Given the description of an element on the screen output the (x, y) to click on. 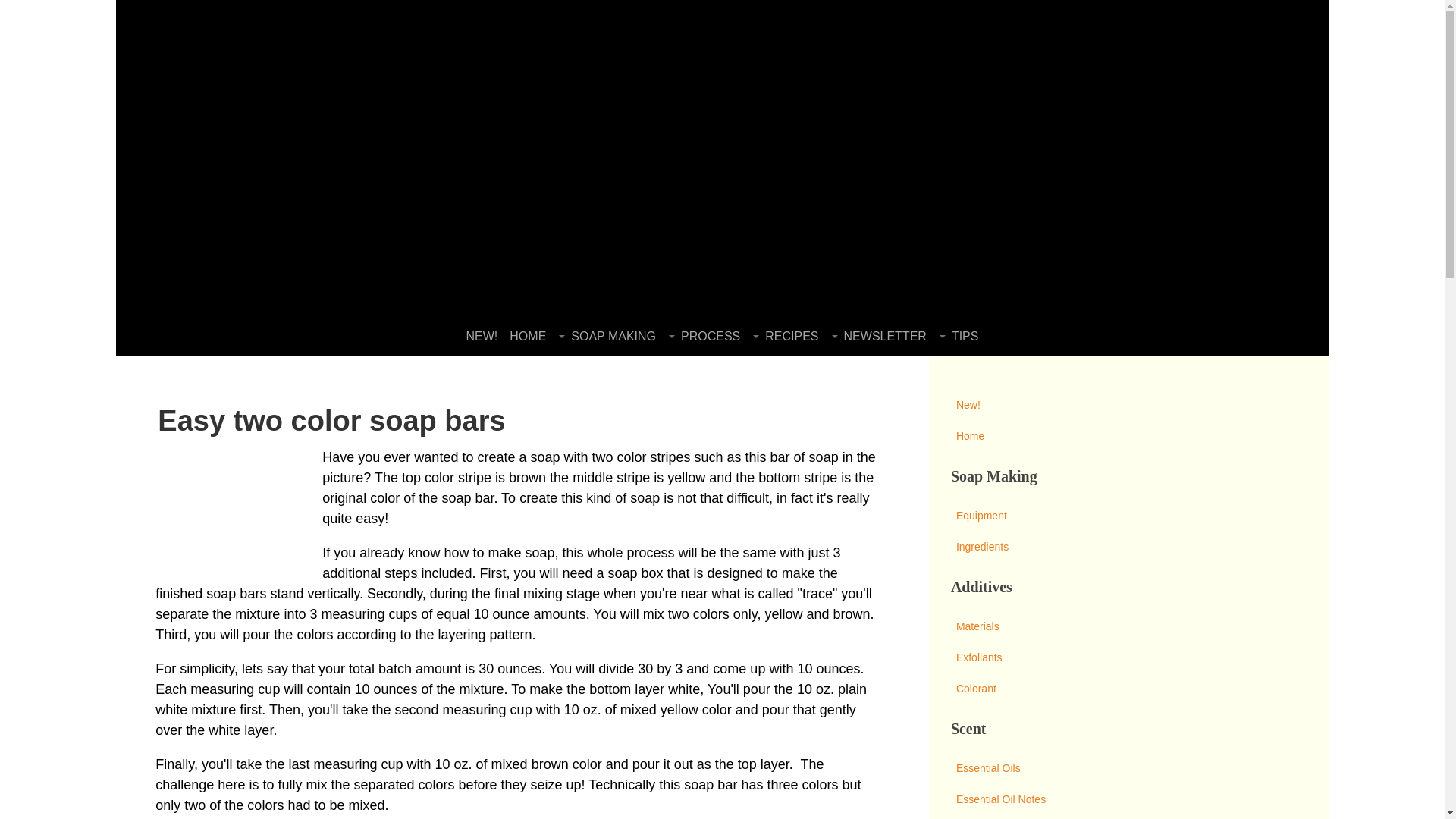
Materials (1128, 626)
Ingredients (1128, 546)
New! (1128, 404)
SoapBarHero.Com (340, 60)
Essential Oils (1128, 767)
Exfoliants (1128, 657)
Equipment (1128, 515)
Home (1128, 436)
HOME (527, 336)
Essential Oil Notes (1128, 798)
Colorant (1128, 688)
NEW! (481, 336)
